Given the description of an element on the screen output the (x, y) to click on. 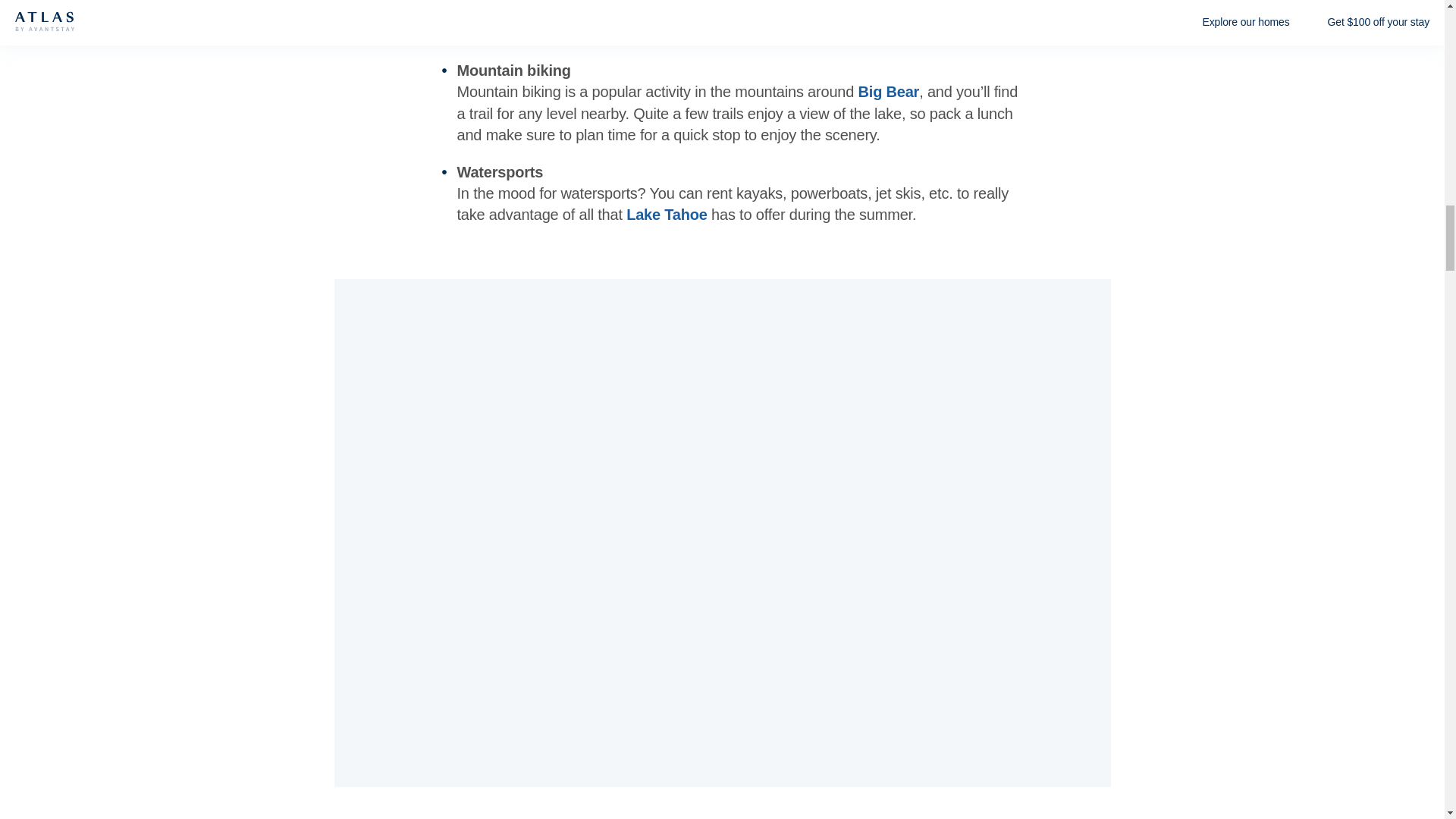
Big Bear (889, 91)
Lake Tahoe (666, 214)
Park City, Utah (581, 33)
